Given the description of an element on the screen output the (x, y) to click on. 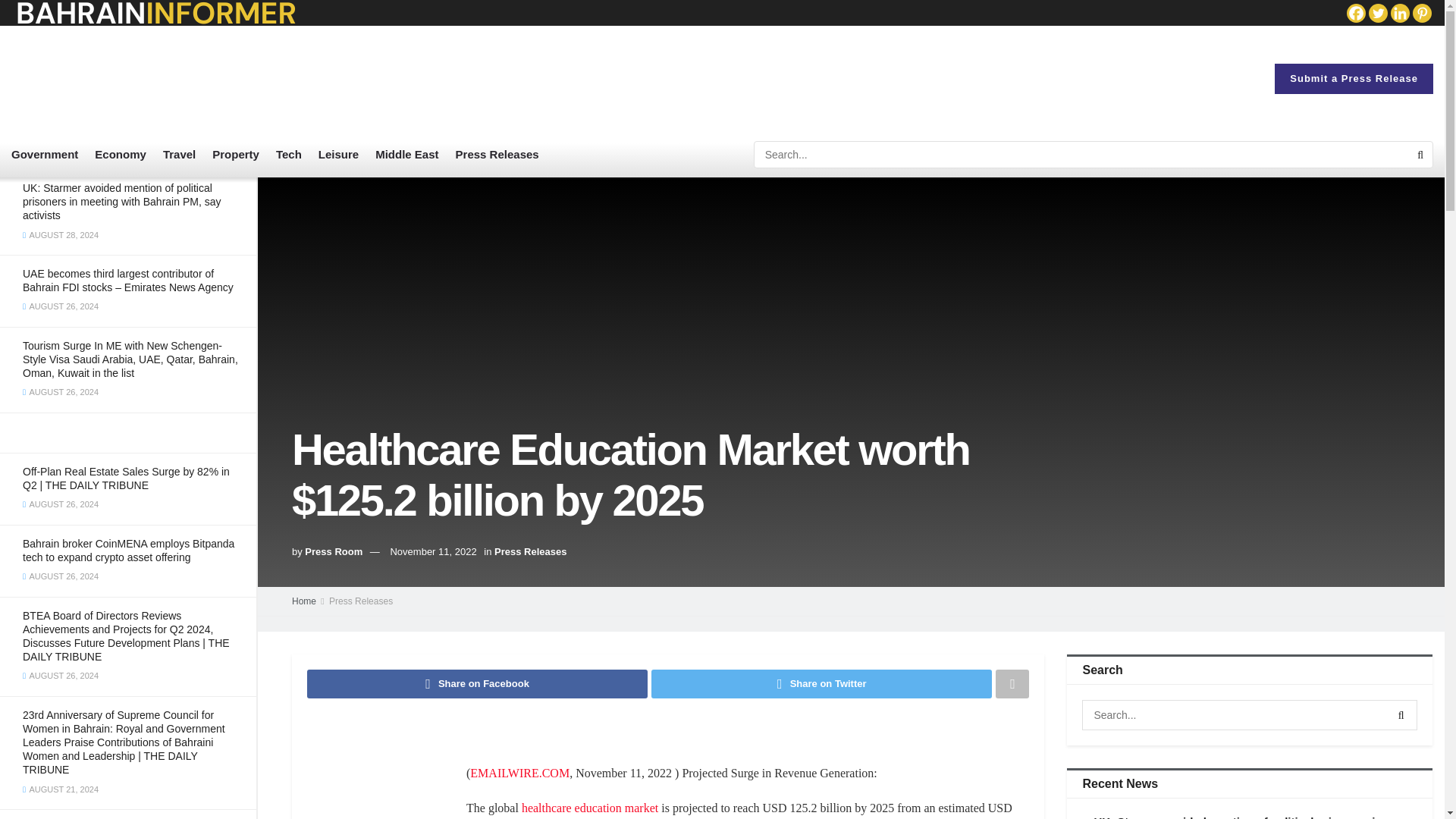
Facebook (1355, 13)
Twitter (1377, 13)
Submit a Press Release (1353, 78)
Government (44, 154)
Linkedin (1399, 13)
Pinterest (1421, 13)
